Given the description of an element on the screen output the (x, y) to click on. 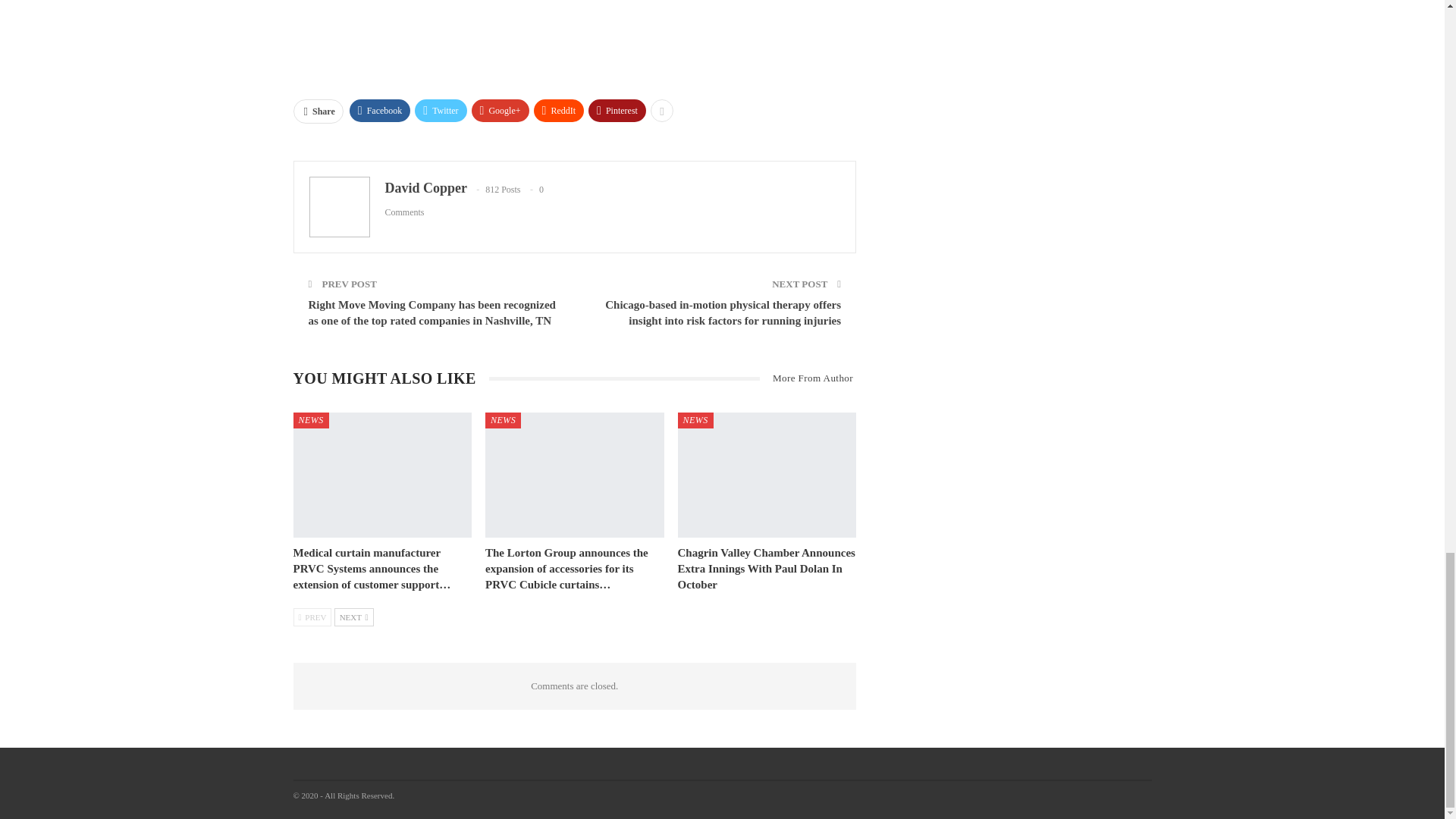
Previous (311, 617)
Facebook (379, 110)
Twitter (439, 110)
ReddIt (559, 110)
Pinterest (617, 110)
Next (354, 617)
